Given the description of an element on the screen output the (x, y) to click on. 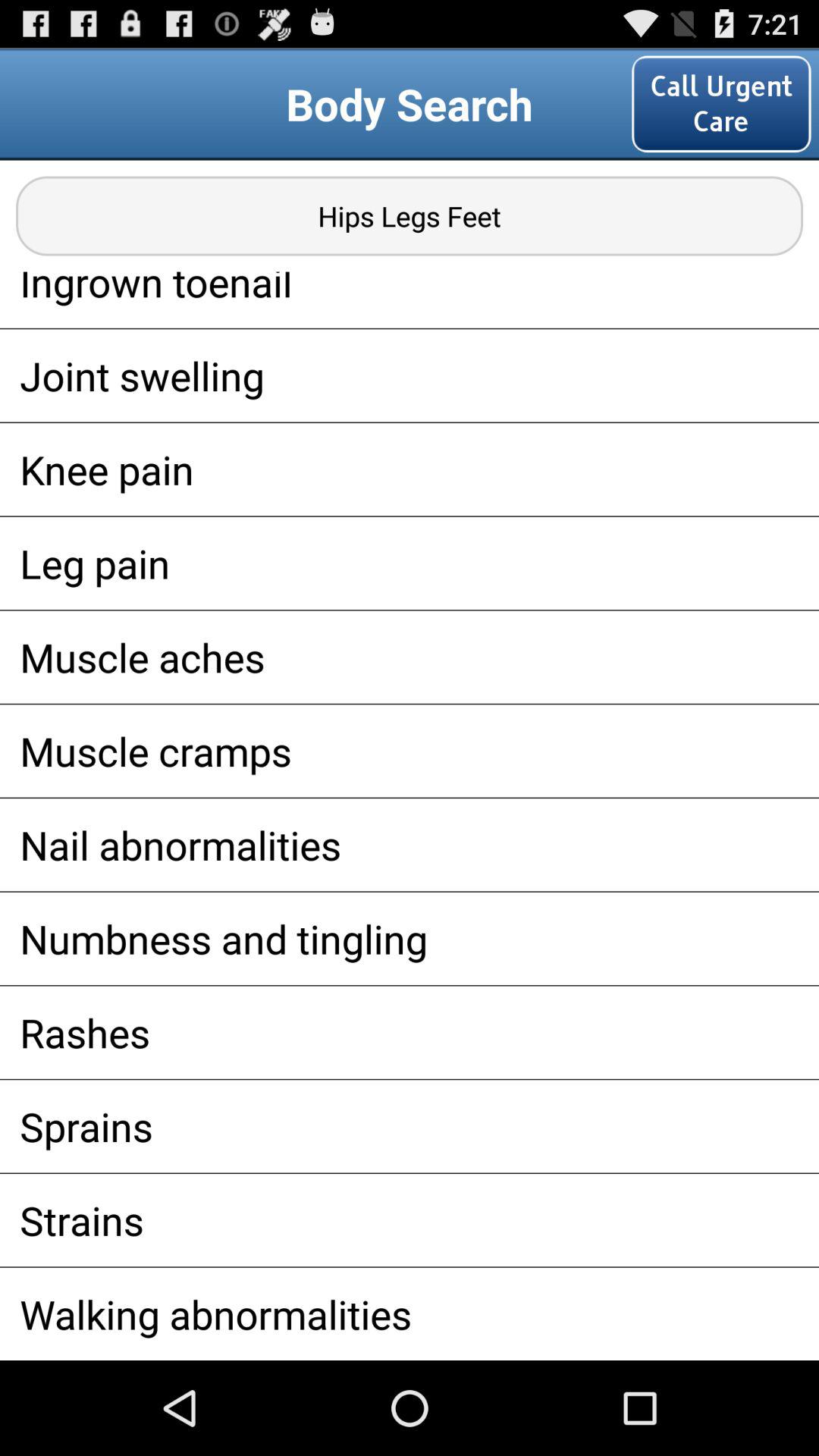
tap the call urgent care (721, 103)
